Given the description of an element on the screen output the (x, y) to click on. 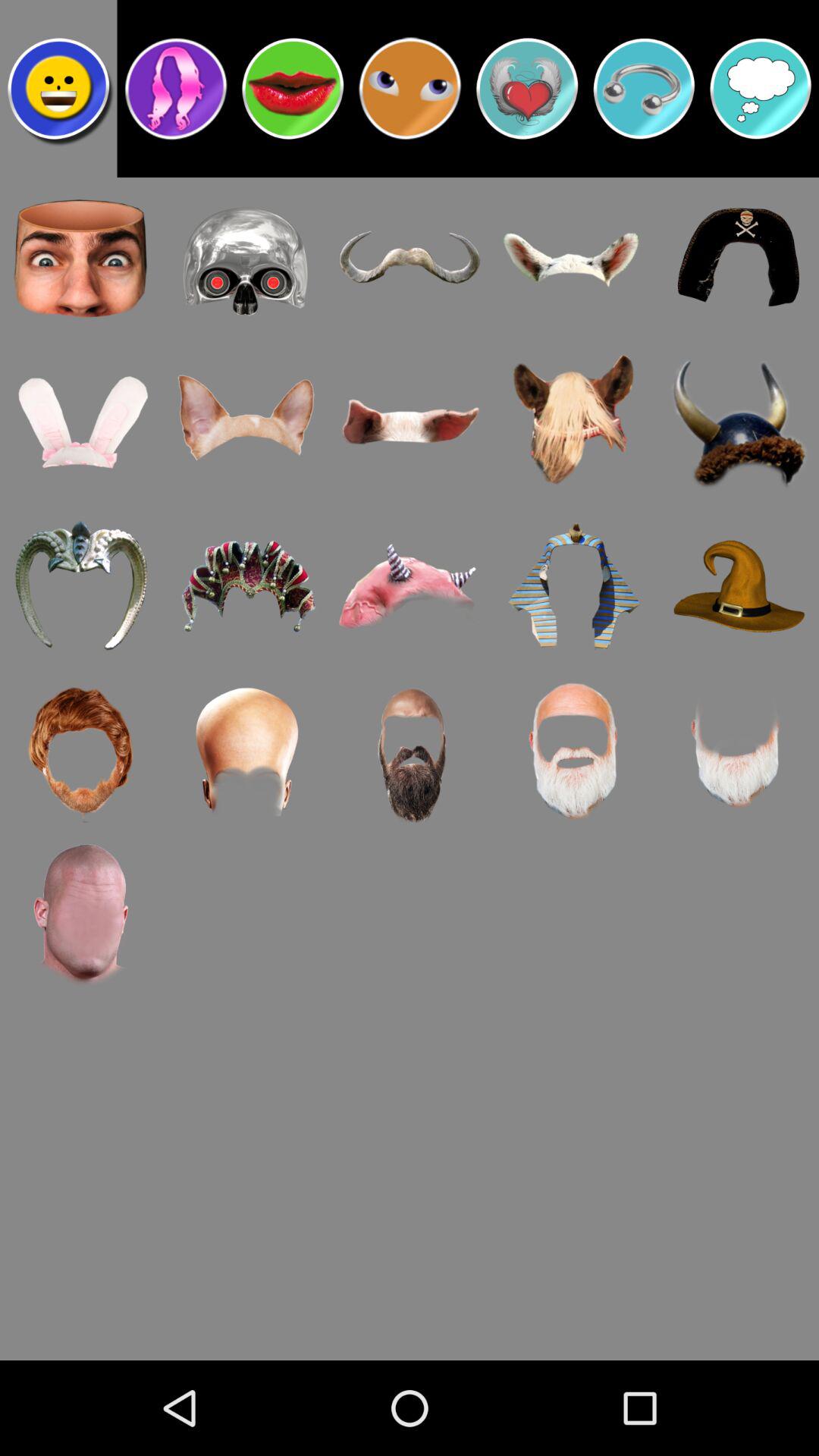
piercings filter (643, 88)
